Given the description of an element on the screen output the (x, y) to click on. 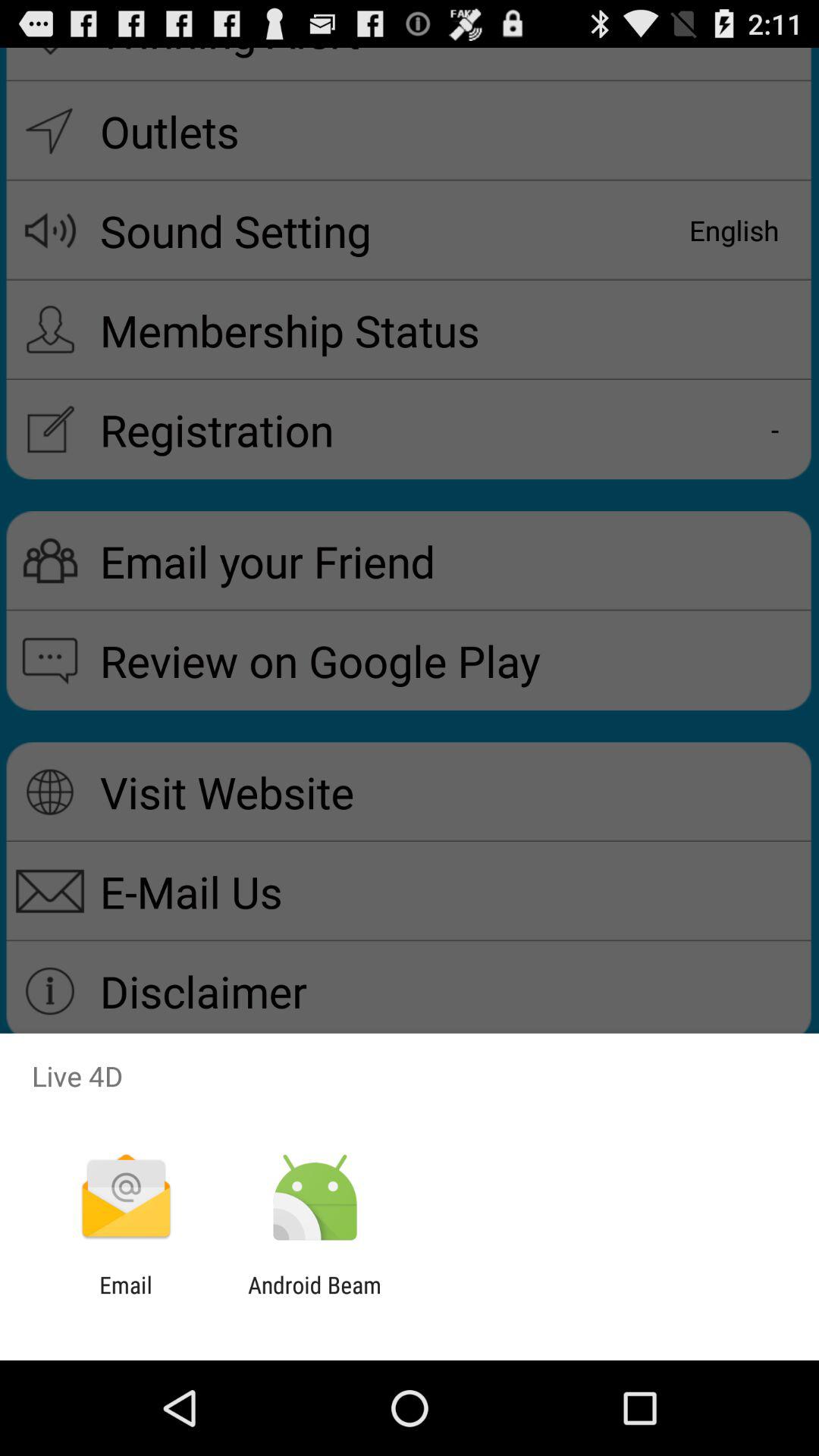
open the item to the left of android beam icon (125, 1298)
